Given the description of an element on the screen output the (x, y) to click on. 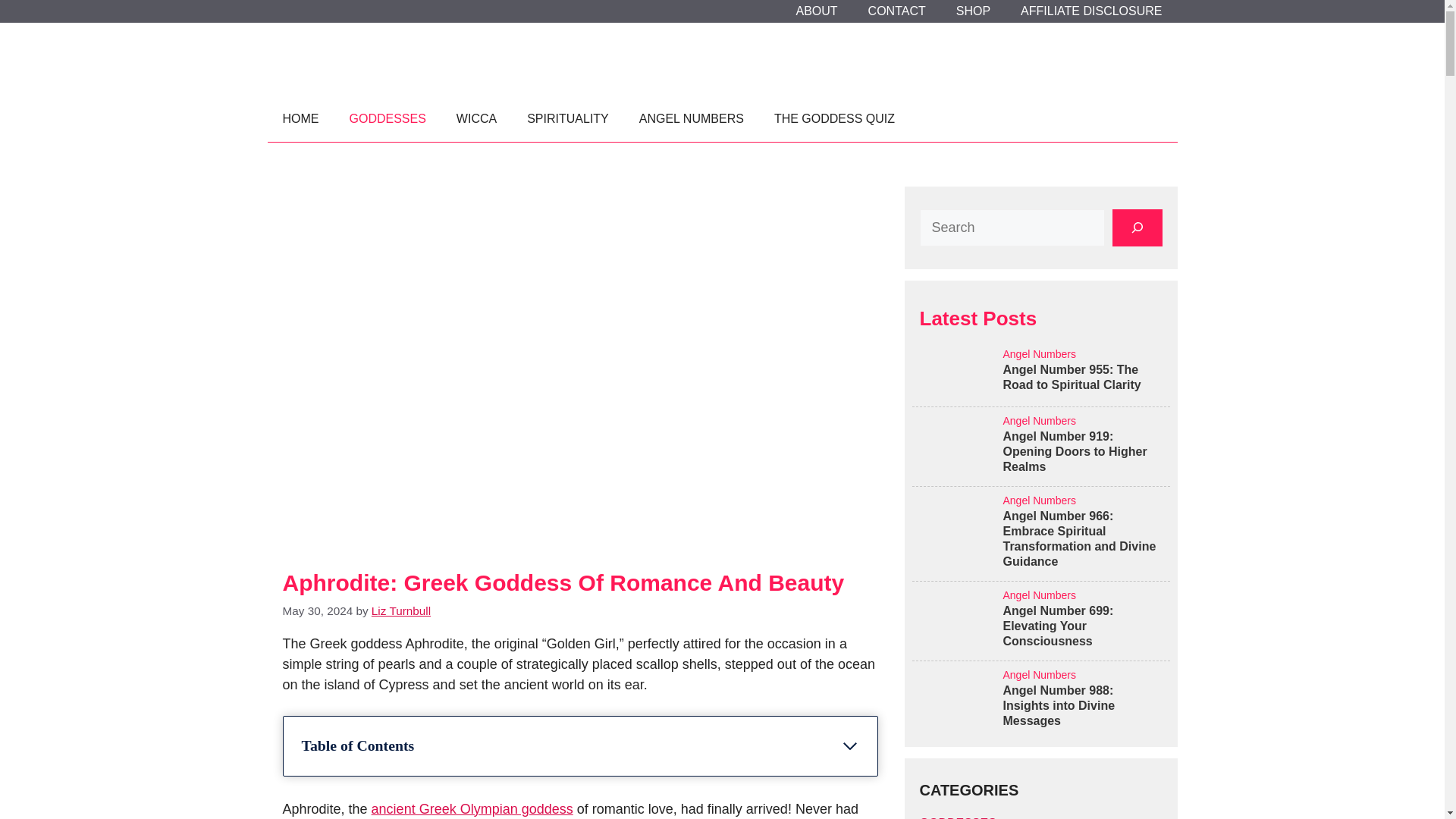
Table of Contents (580, 745)
SHOP (973, 11)
HOME (299, 118)
WICCA (476, 118)
Liz Turnbull (400, 610)
GODDESSES (387, 118)
SPIRITUALITY (568, 118)
THE GODDESS QUIZ (834, 118)
ANGEL NUMBERS (691, 118)
CONTACT (896, 11)
View all posts by Liz Turnbull (400, 610)
ABOUT (815, 11)
AFFILIATE DISCLOSURE (1091, 11)
